Given the description of an element on the screen output the (x, y) to click on. 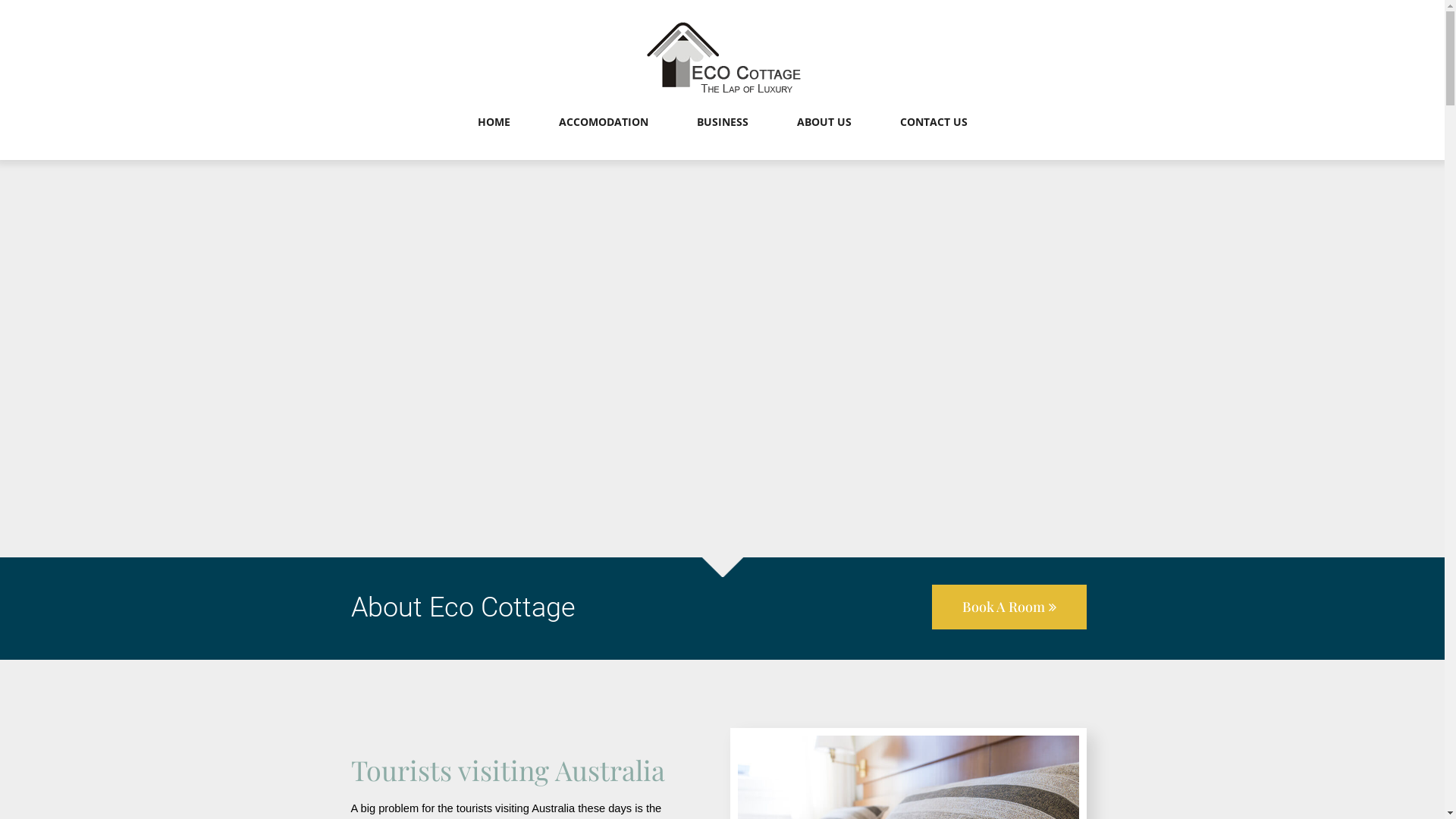
ACCOMODATION Element type: text (602, 137)
Book A Room Element type: text (1008, 606)
CONTACT US Element type: text (932, 137)
ABOUT US Element type: text (823, 137)
HOME Element type: text (493, 137)
BUSINESS Element type: text (721, 137)
